Given the description of an element on the screen output the (x, y) to click on. 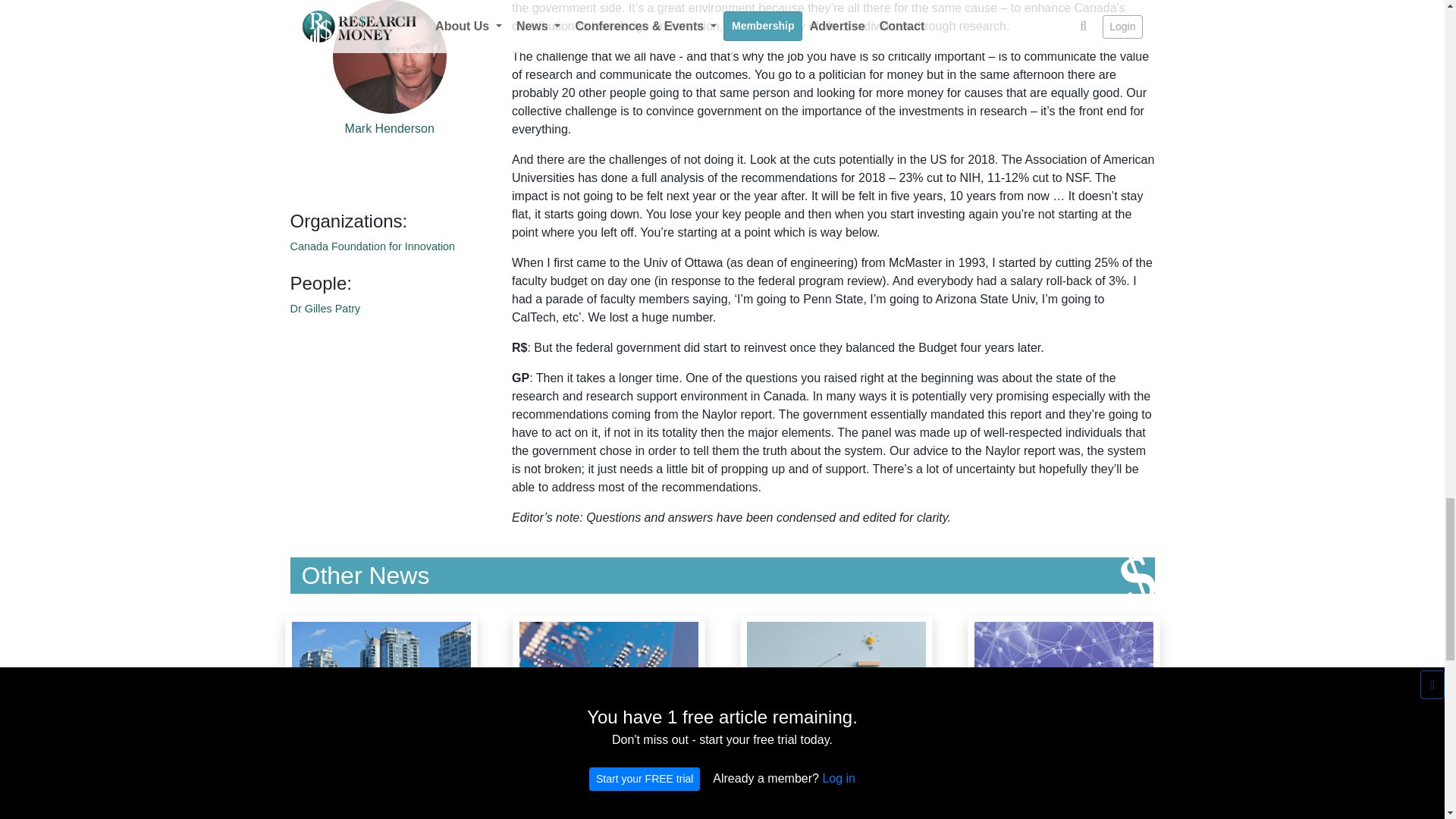
Where is the protection of patents in Canada? (834, 717)
Editorial 31-6 (380, 709)
